Given the description of an element on the screen output the (x, y) to click on. 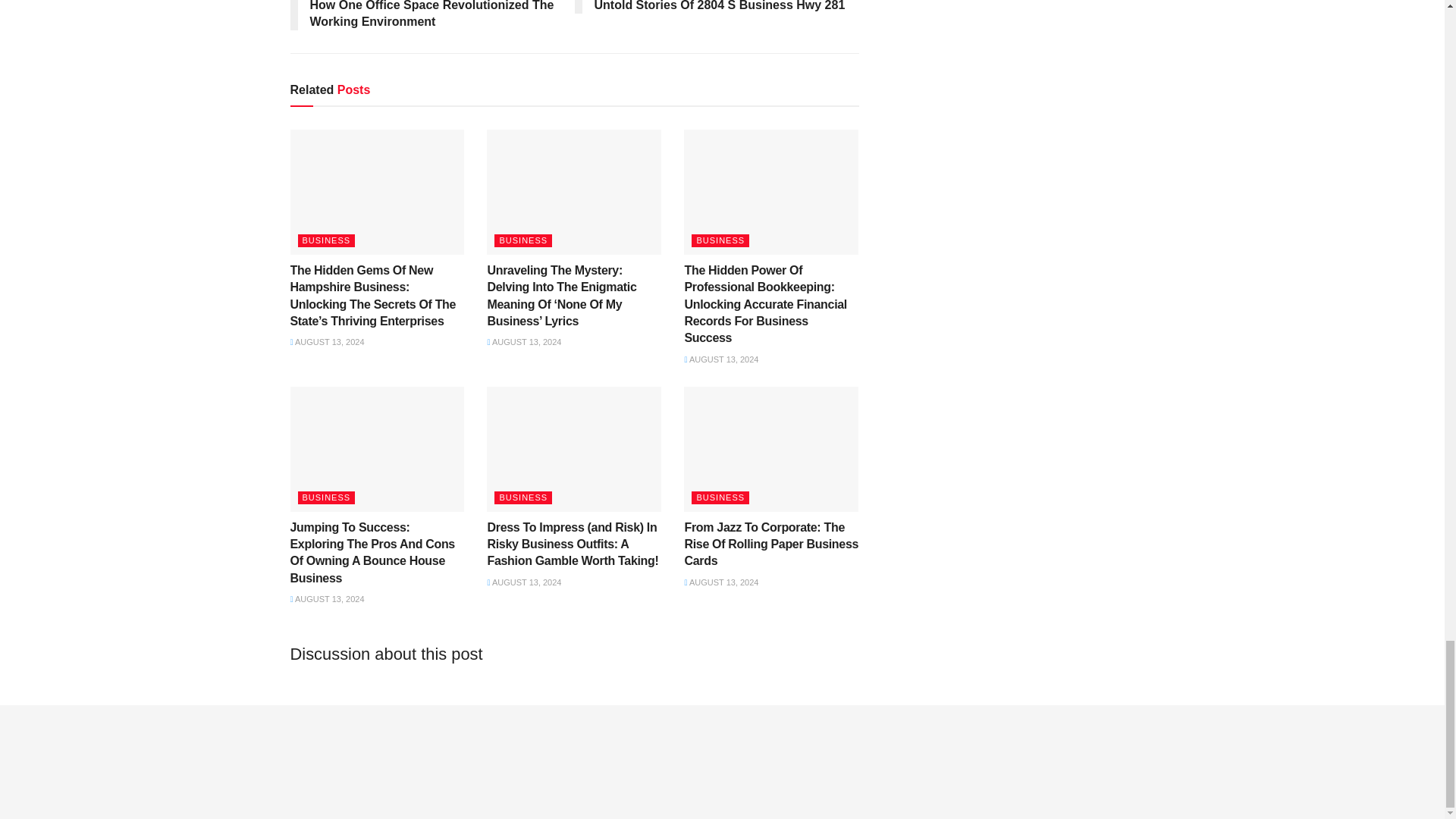
AUGUST 13, 2024 (326, 341)
BUSINESS (326, 240)
